Given the description of an element on the screen output the (x, y) to click on. 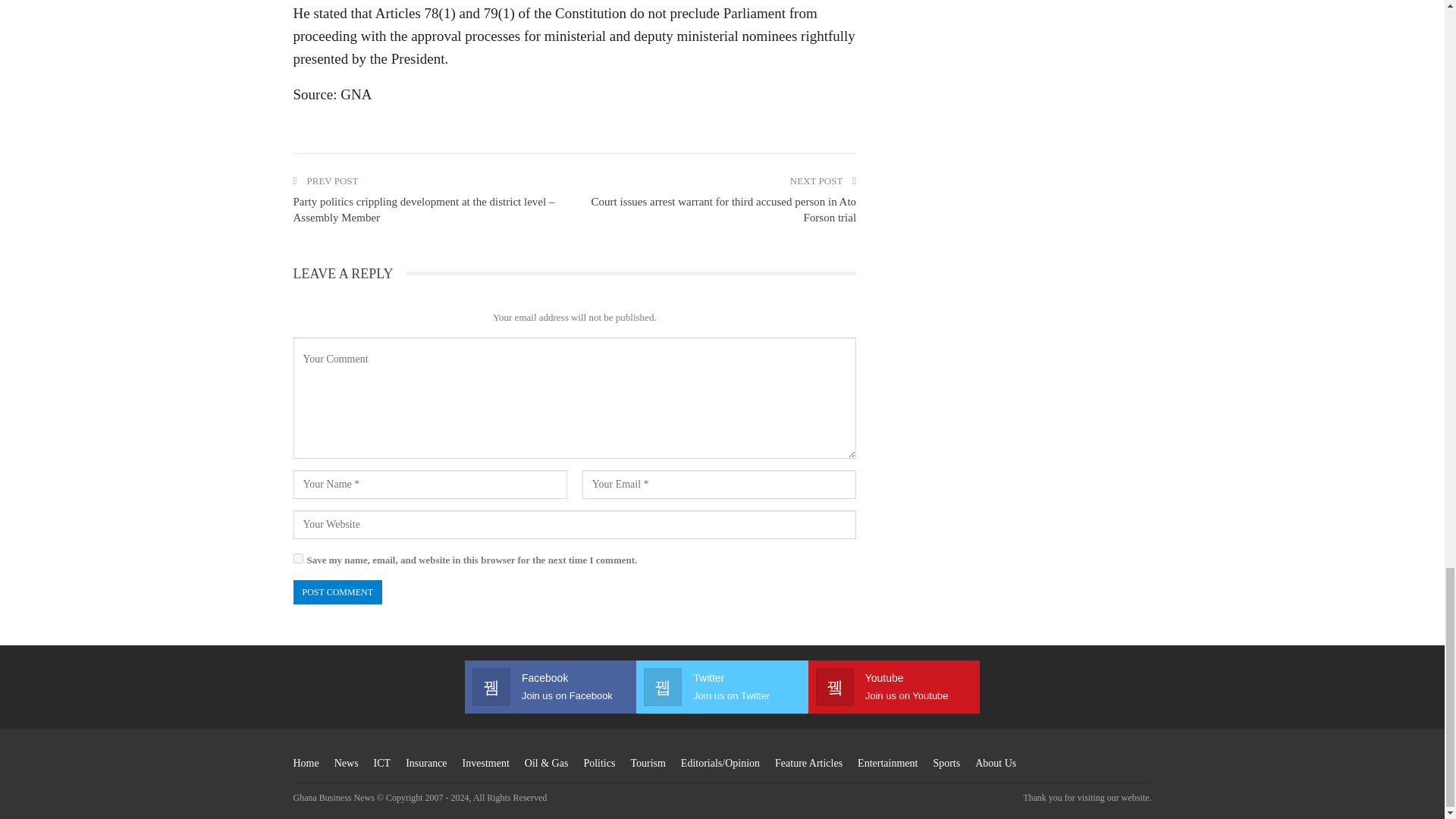
yes (297, 558)
Post Comment (336, 592)
